Given the description of an element on the screen output the (x, y) to click on. 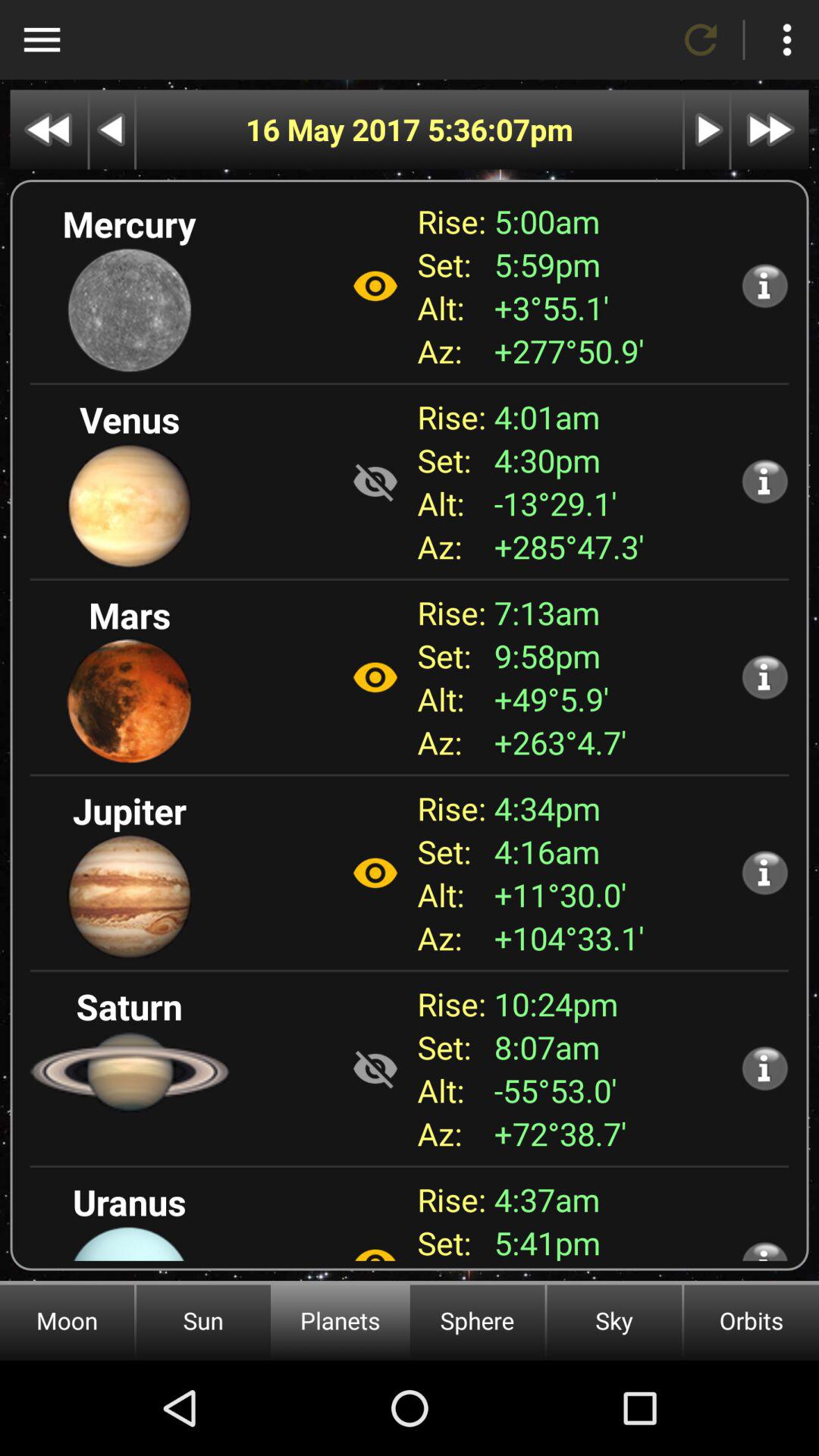
know instruction (764, 285)
